Given the description of an element on the screen output the (x, y) to click on. 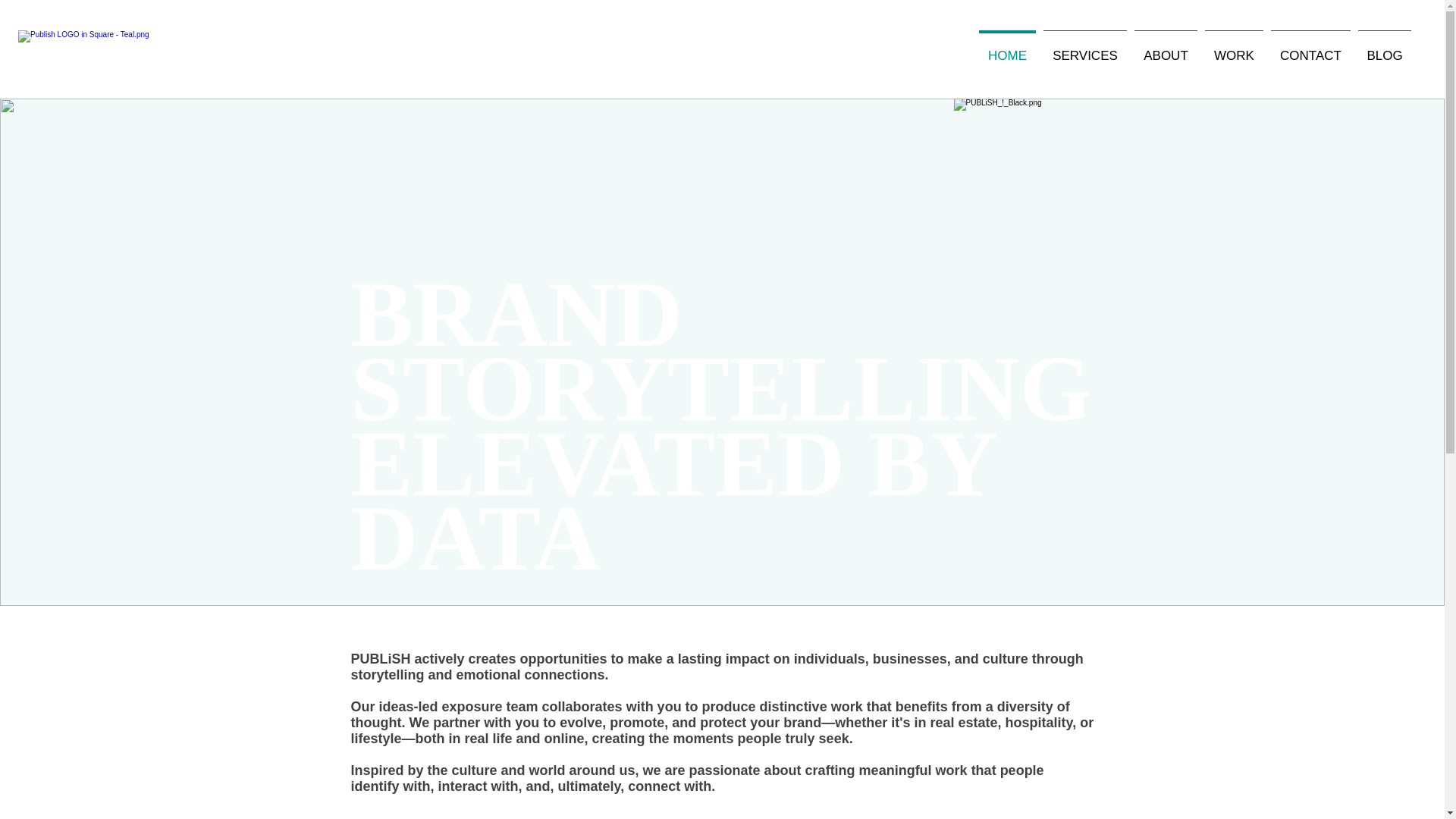
HOME (1007, 48)
CONTACT (1310, 48)
ABOUT (1166, 48)
SERVICES (1085, 48)
WORK (1233, 48)
BLOG (1384, 48)
